Given the description of an element on the screen output the (x, y) to click on. 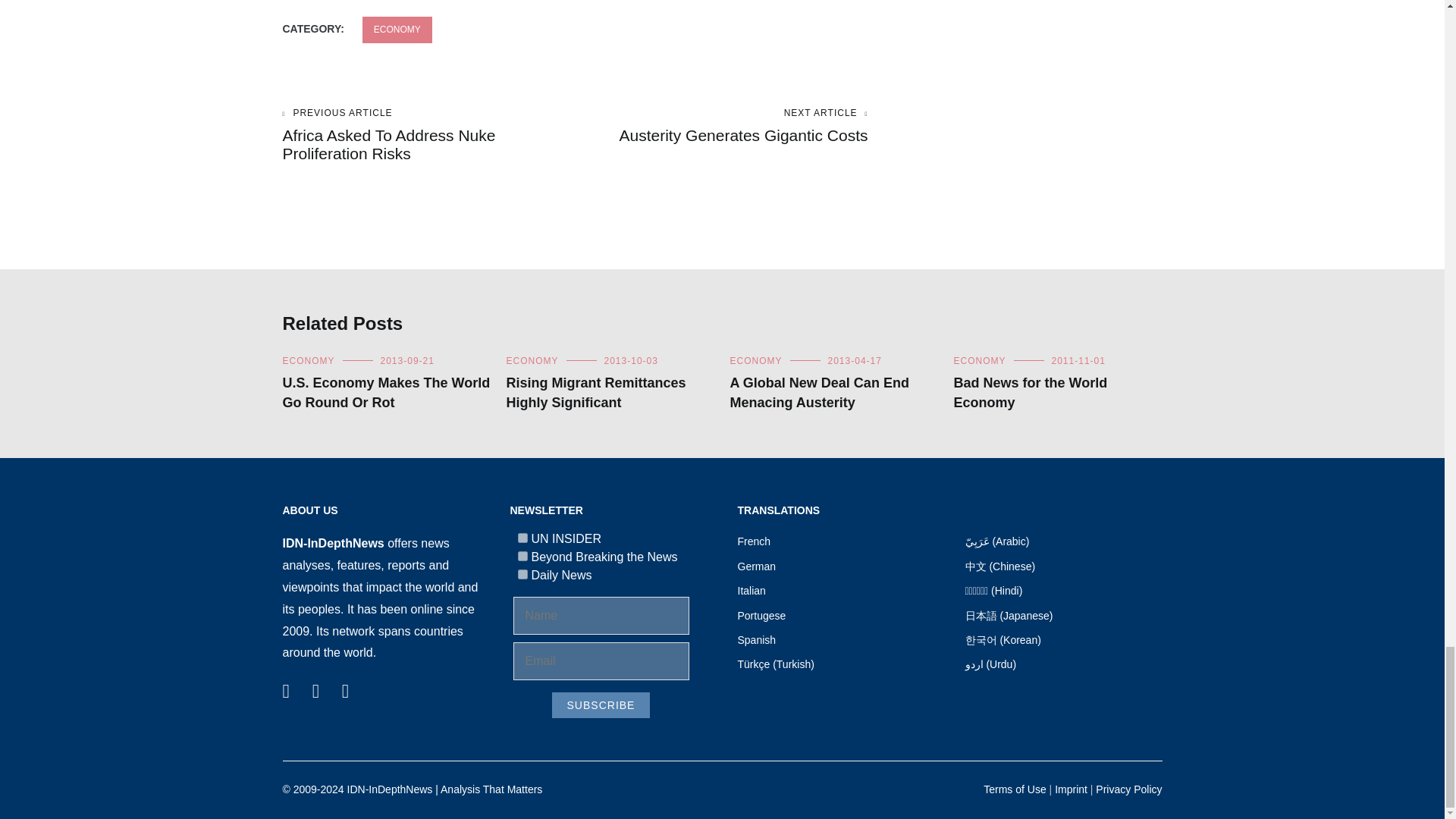
9 (521, 556)
7 (521, 537)
10 (521, 574)
